Given the description of an element on the screen output the (x, y) to click on. 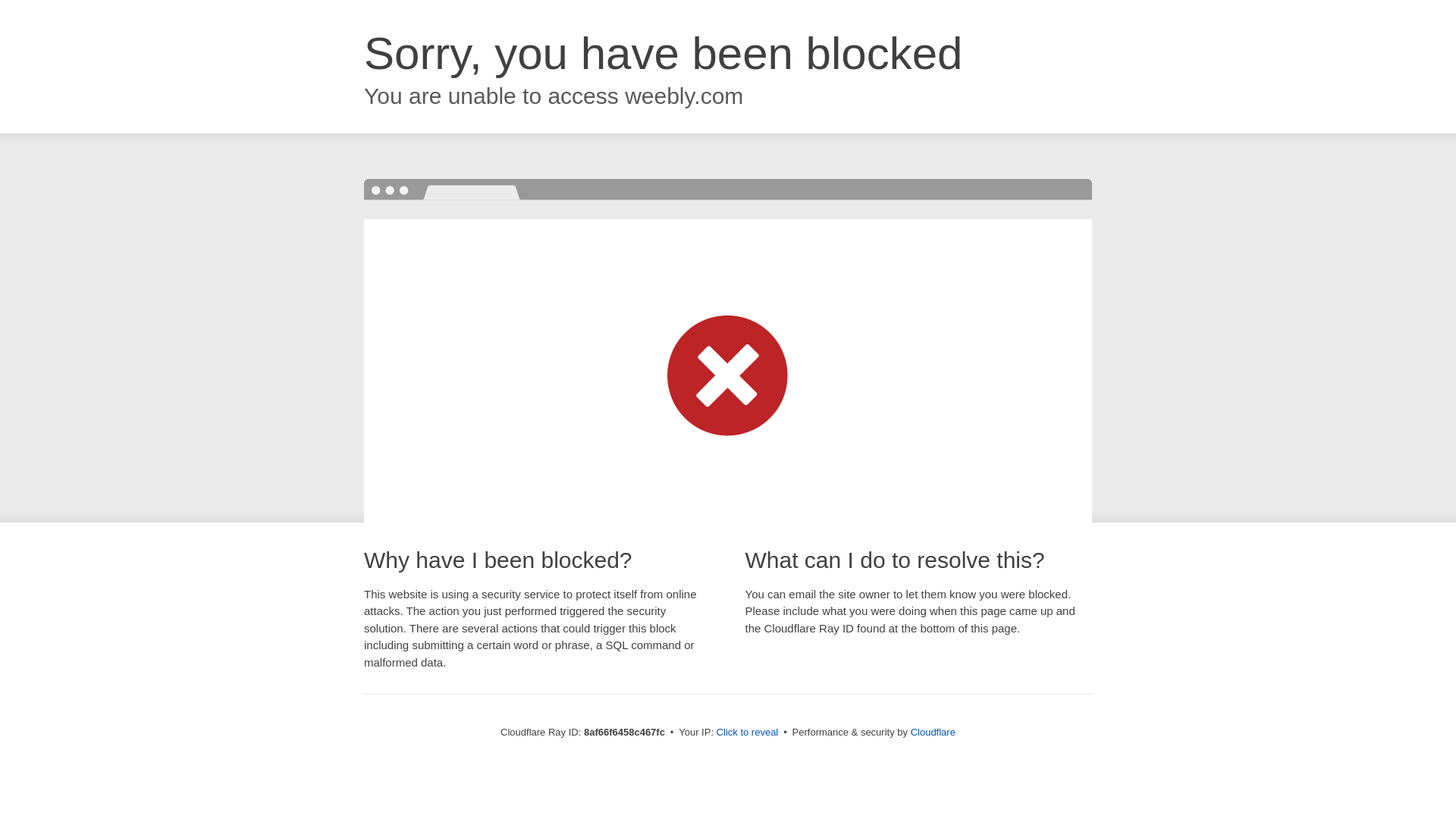
Cloudflare (933, 731)
Click to reveal (747, 732)
